Given the description of an element on the screen output the (x, y) to click on. 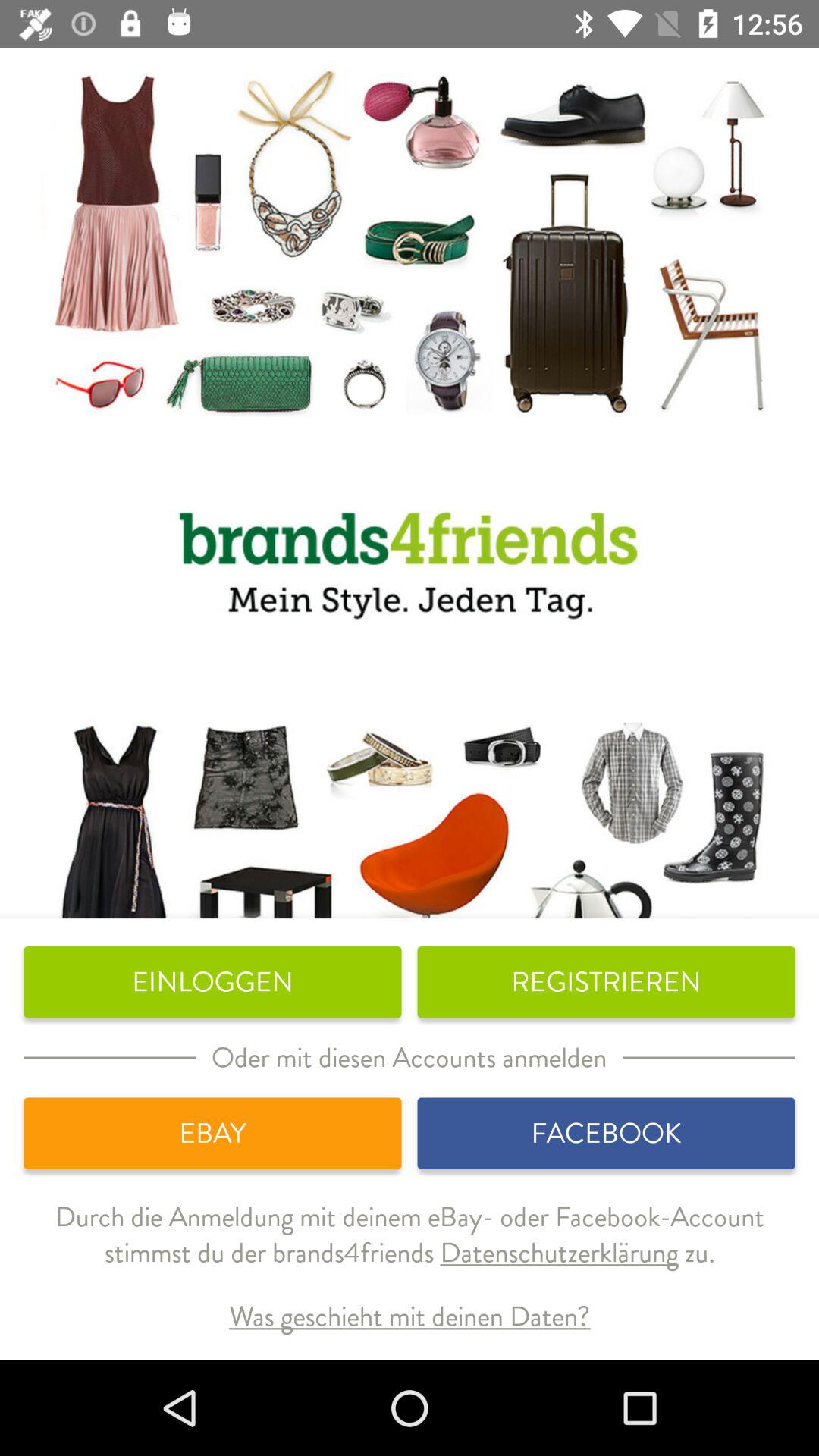
turn off the icon to the right of einloggen (606, 982)
